Given the description of an element on the screen output the (x, y) to click on. 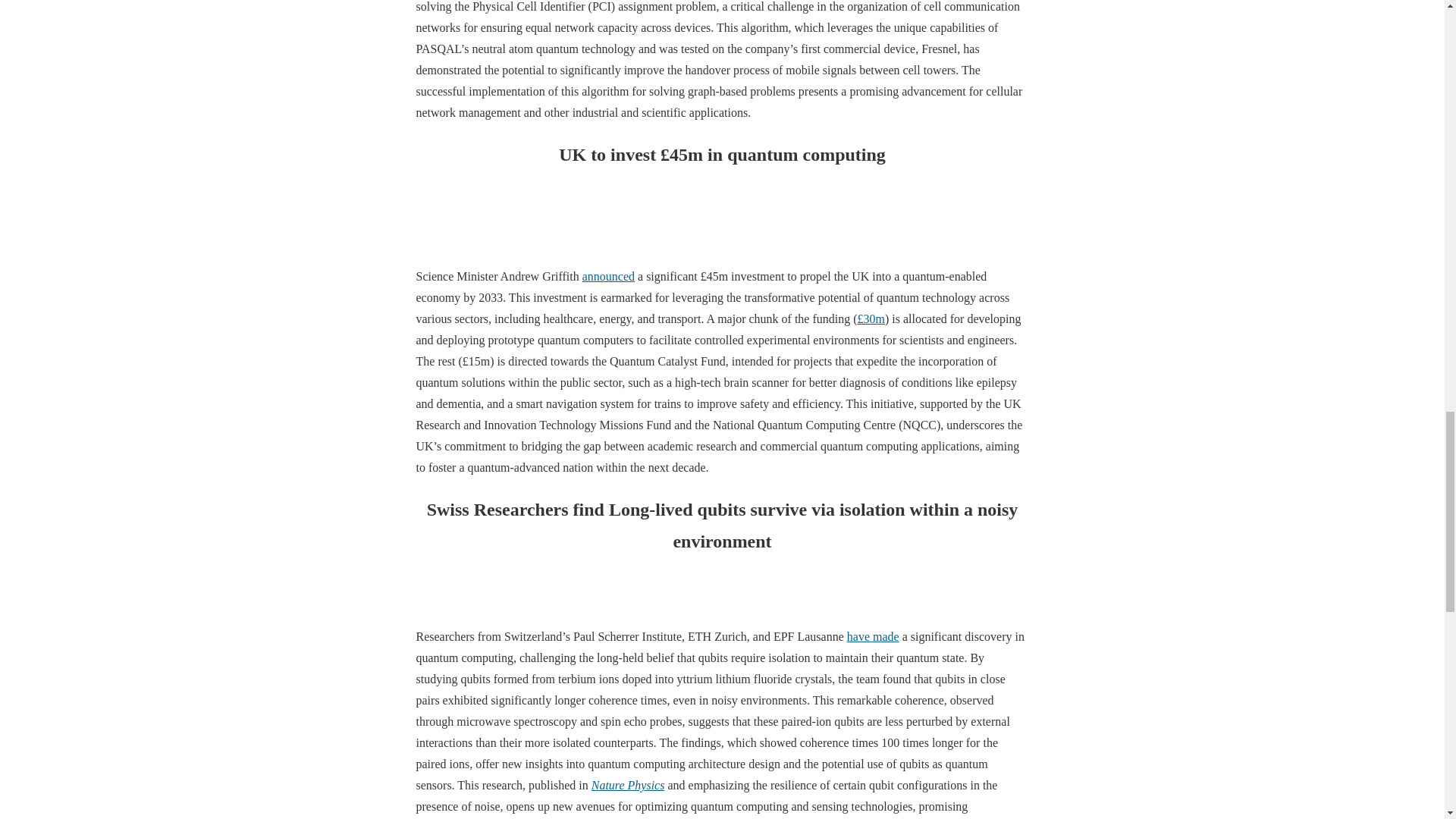
Nature Physics (628, 784)
announced (608, 276)
have made (873, 635)
